Given the description of an element on the screen output the (x, y) to click on. 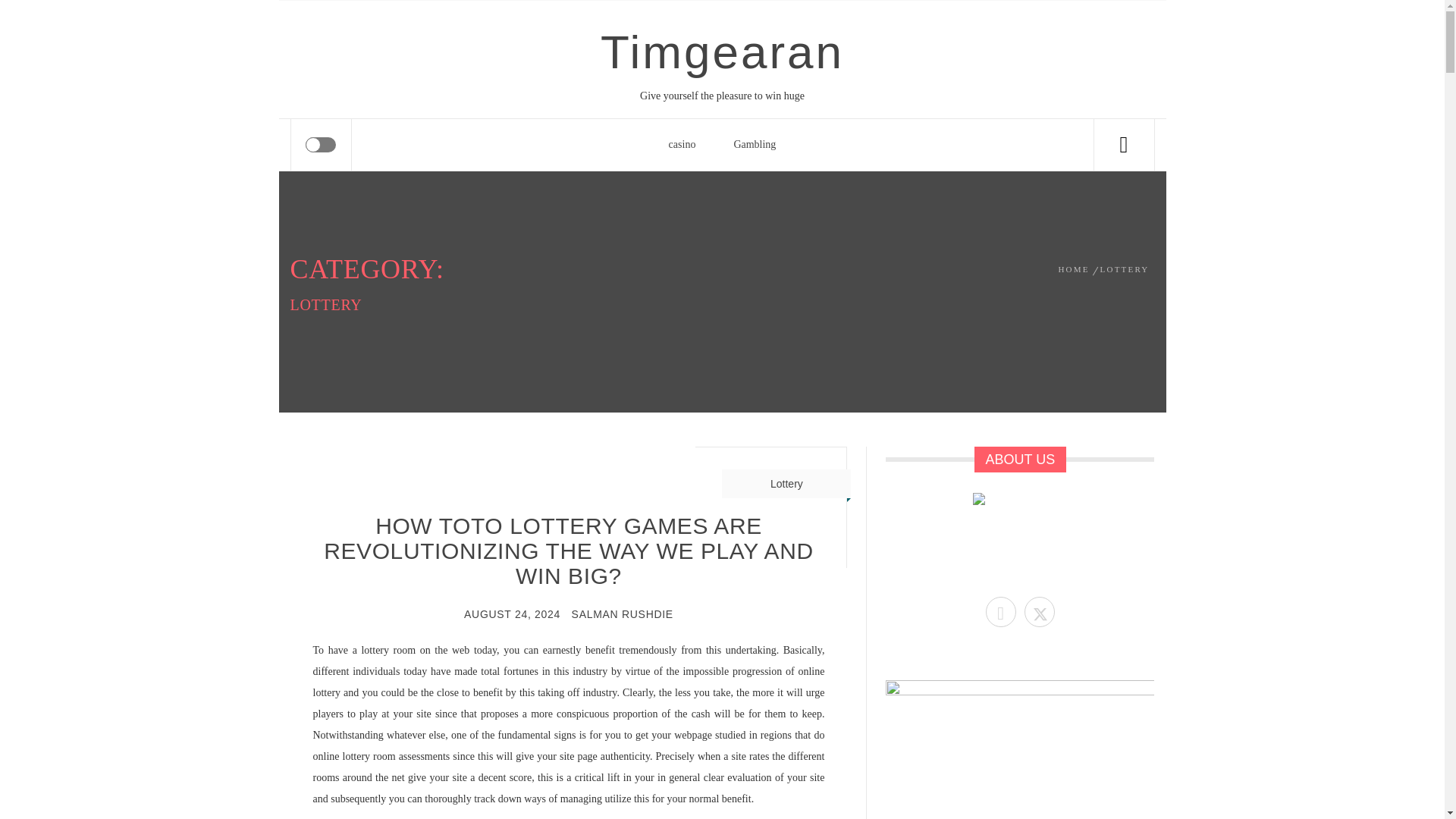
HOME (1076, 268)
SALMAN RUSHDIE (622, 613)
Gambling (754, 144)
LOTTERY (1124, 268)
Search (797, 41)
casino (681, 144)
Lottery (786, 483)
Timgearan (721, 51)
AUGUST 24, 2024 (512, 613)
